Given the description of an element on the screen output the (x, y) to click on. 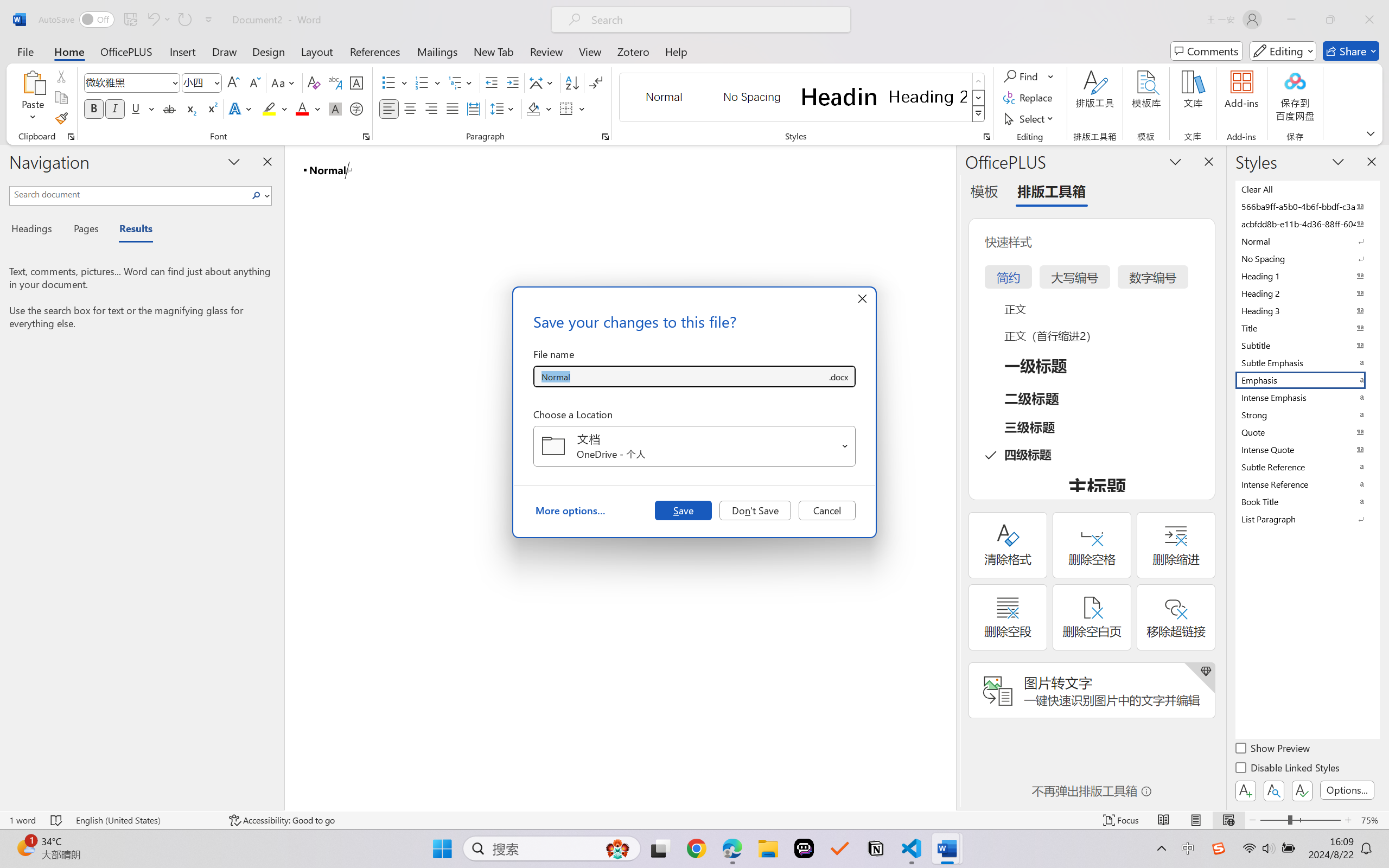
Font Color (308, 108)
Underline (135, 108)
Class: Image (1218, 847)
Comments (1206, 50)
Strikethrough (169, 108)
Show/Hide Editing Marks (595, 82)
Numbering (428, 82)
Undo Style (152, 19)
Copy (60, 97)
Spelling and Grammar Check No Errors (56, 819)
Notion (875, 848)
